Given the description of an element on the screen output the (x, y) to click on. 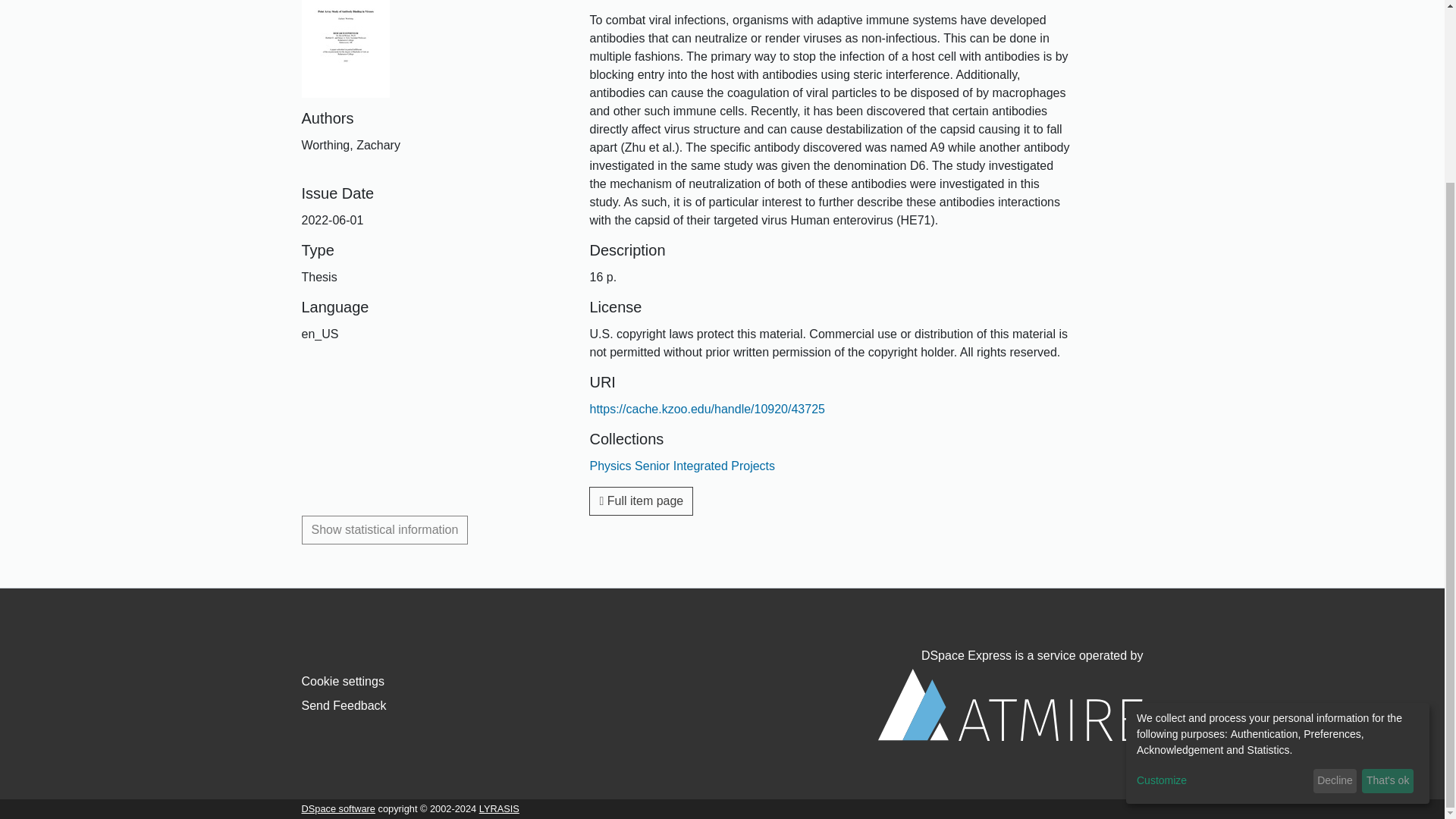
LYRASIS (499, 808)
DSpace Express is a service operated by (1009, 695)
Physics Senior Integrated Projects (681, 465)
Customize (1222, 555)
DSpace software (338, 808)
That's ok (1387, 555)
Send Feedback (344, 705)
Full item page (641, 500)
Decline (1334, 555)
Cookie settings (342, 680)
